Given the description of an element on the screen output the (x, y) to click on. 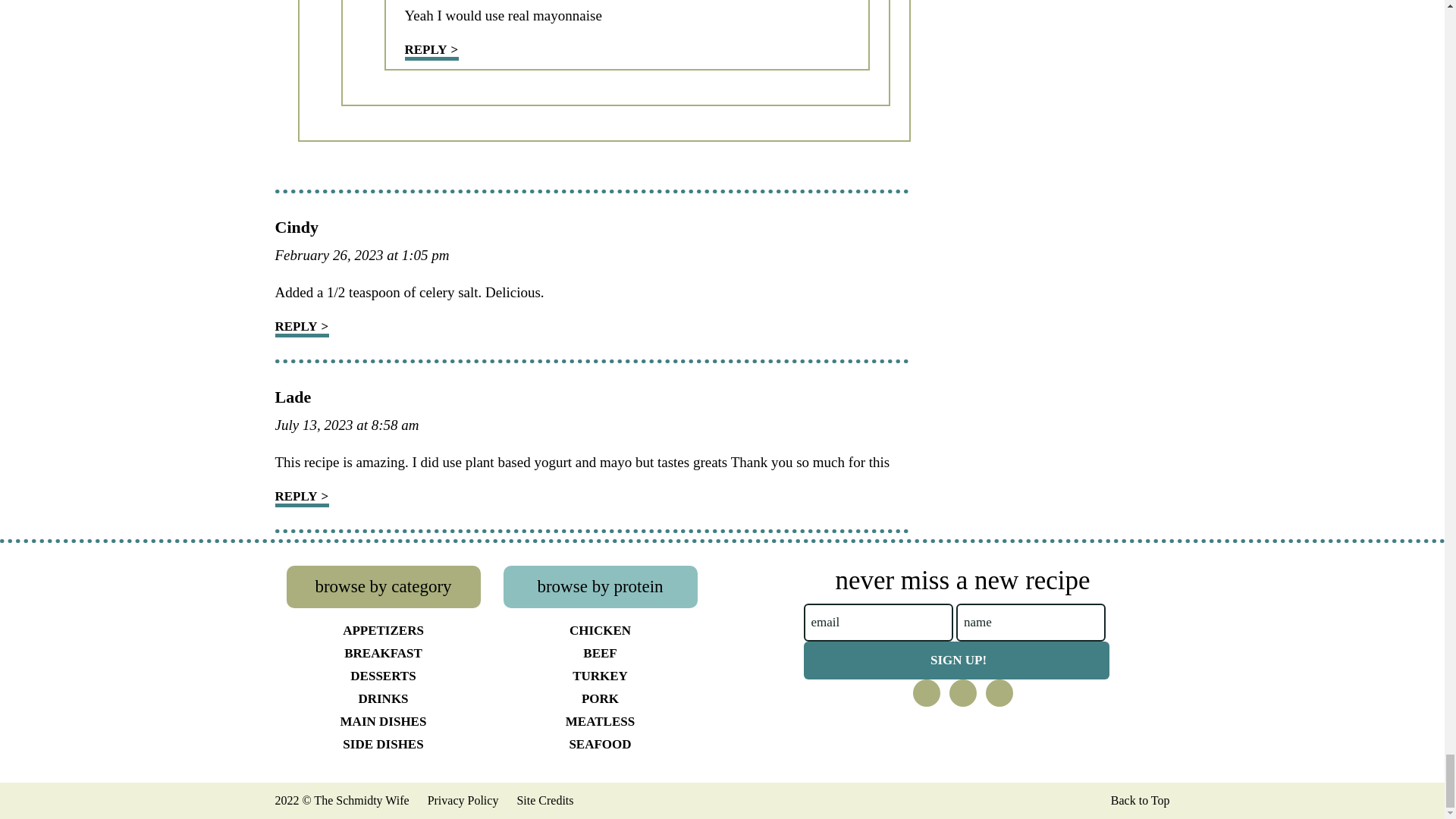
sign up! (956, 660)
